Given the description of an element on the screen output the (x, y) to click on. 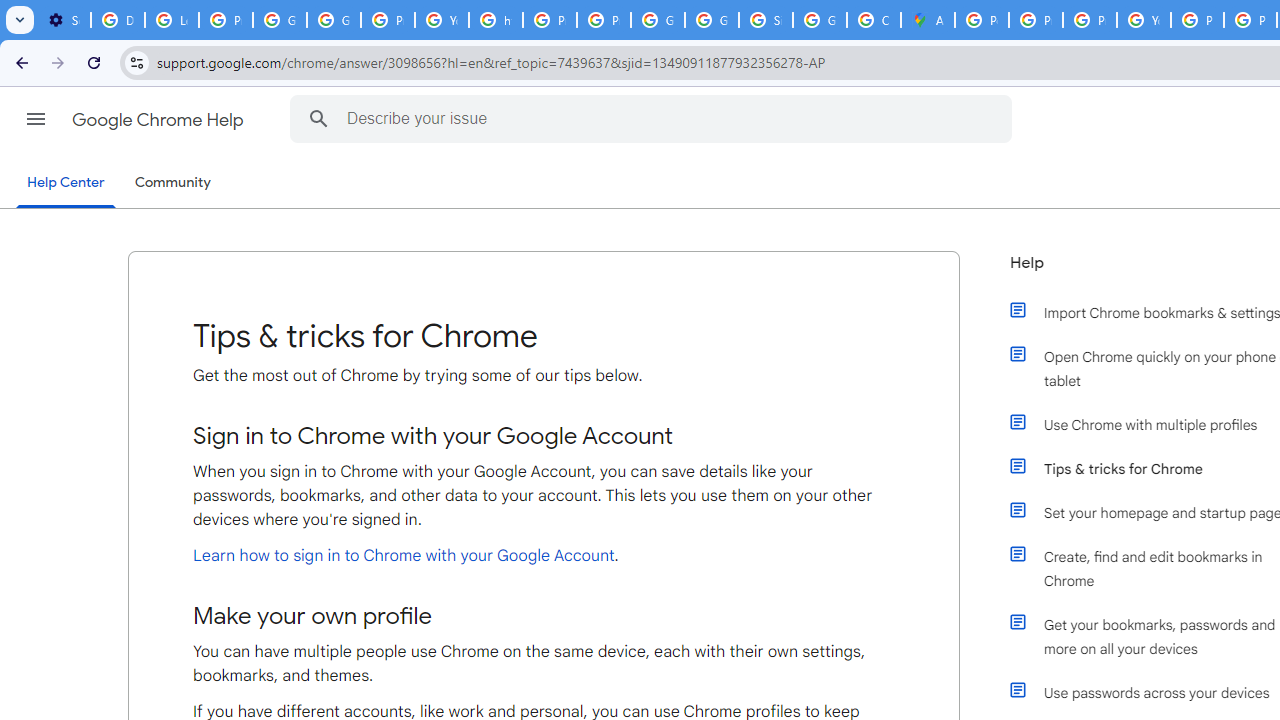
YouTube (1144, 20)
YouTube (441, 20)
Search Help Center (318, 118)
Google Account Help (280, 20)
Sign in - Google Accounts (765, 20)
Policy Accountability and Transparency - Transparency Center (981, 20)
Privacy Help Center - Policies Help (1089, 20)
